Given the description of an element on the screen output the (x, y) to click on. 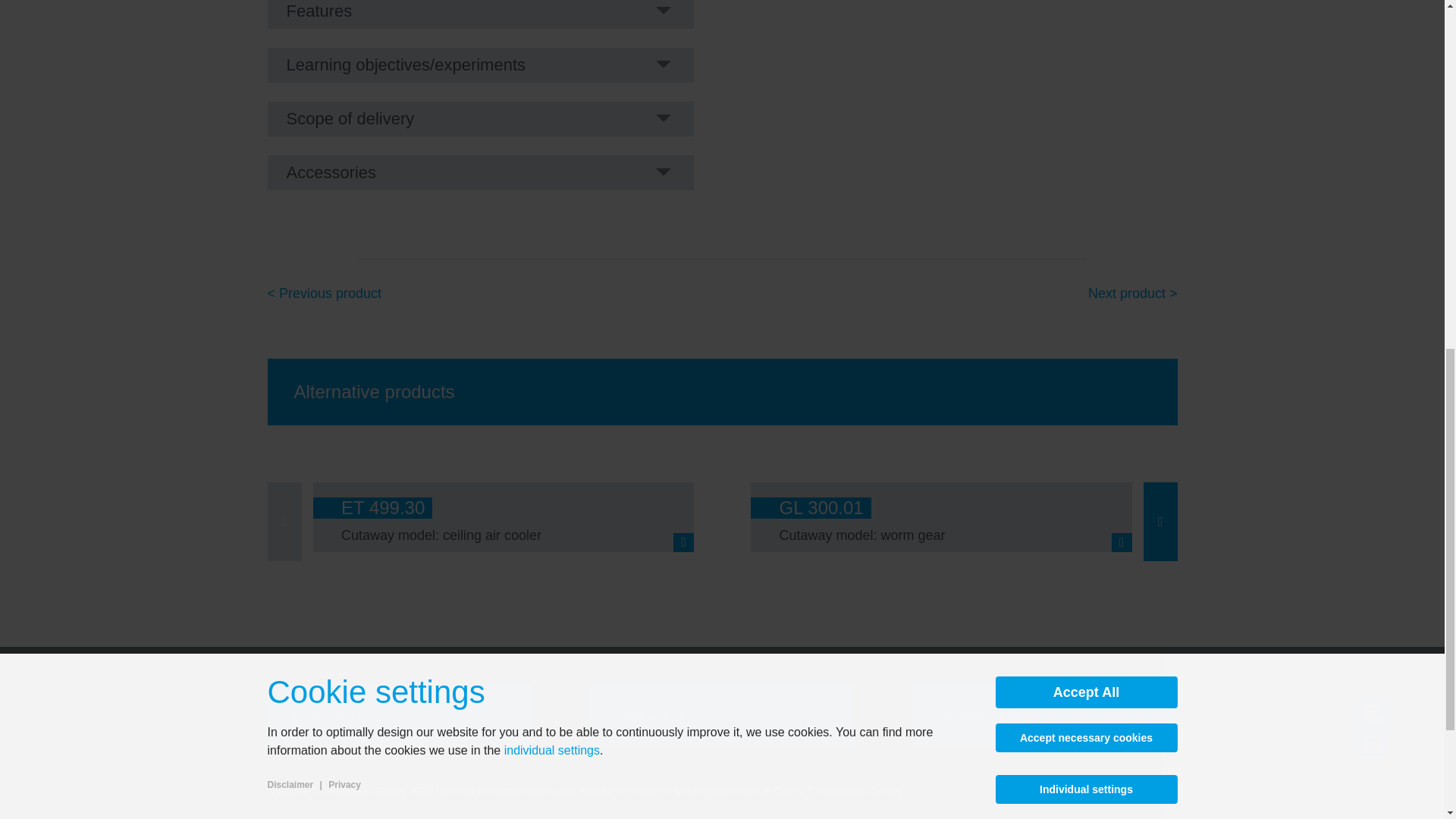
Cutaway model: worm gear (861, 534)
Cutaway model: ceiling air cooler (440, 534)
